Given the description of an element on the screen output the (x, y) to click on. 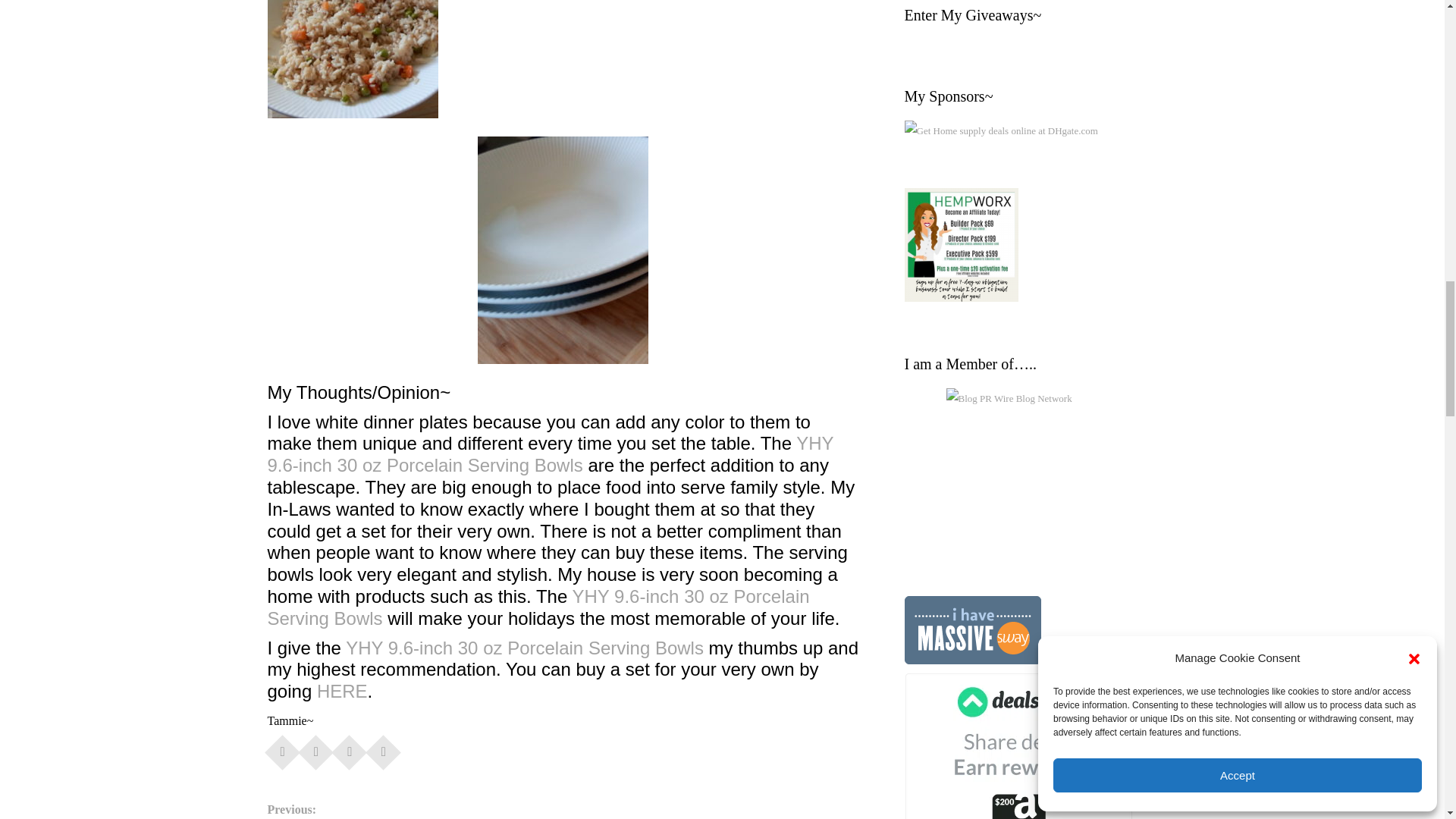
Share on Twitter (315, 747)
Share it on Email (383, 747)
YHY 9.6-inch 30 oz Porcelain Serving Bowls  (526, 648)
YHY 9.6-inch 30 oz Porcelain Serving Bowls  (537, 607)
Share on Facebook (282, 747)
YHY 9.6-inch 30 oz Porcelain Serving Bowls (549, 454)
Share on Pinterest (349, 747)
